Given the description of an element on the screen output the (x, y) to click on. 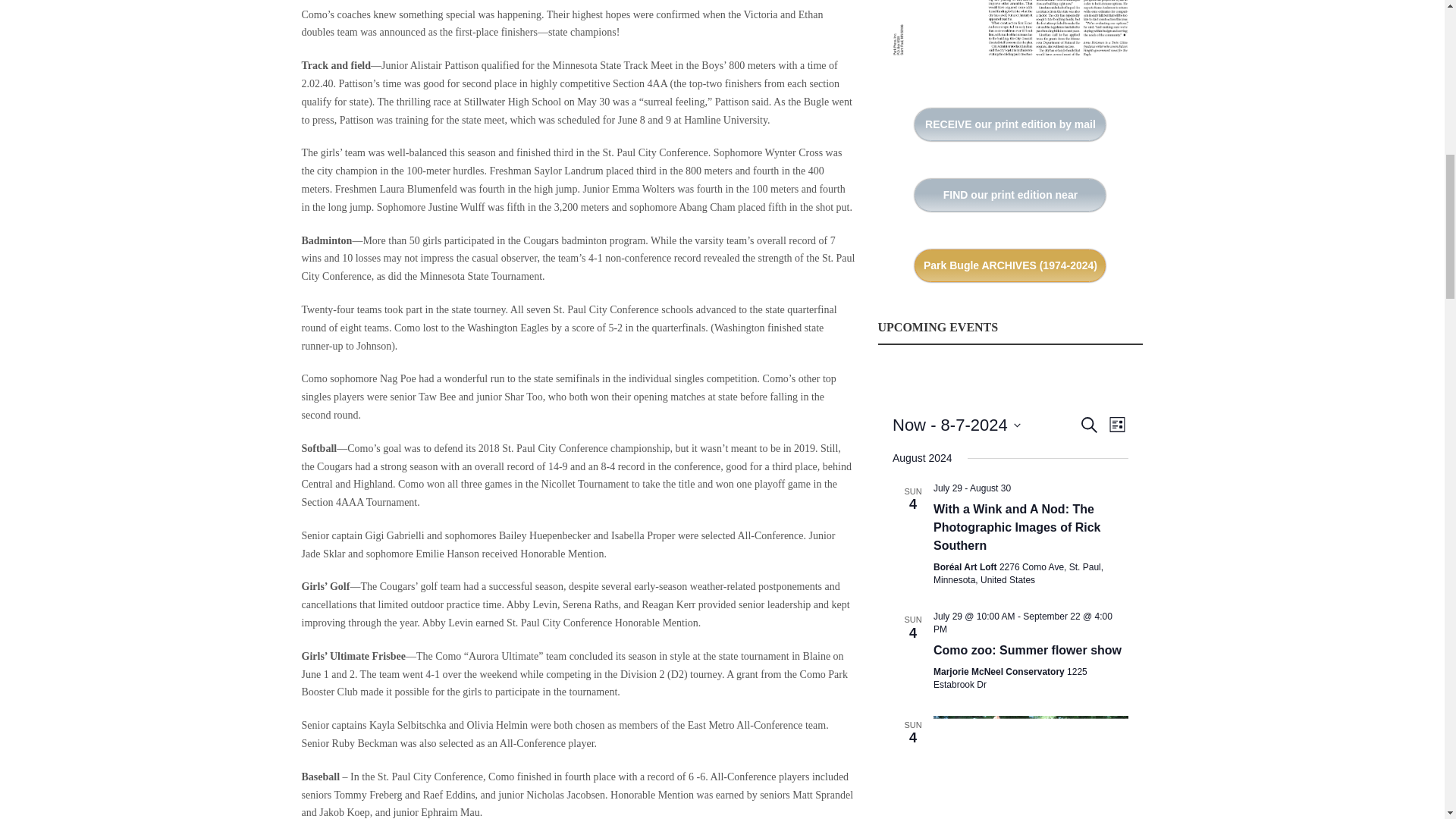
Latest Print Edition (1009, 35)
Dinosaur Expedition (1030, 767)
Como zoo: Summer flower show (1027, 650)
Click to toggle datepicker (956, 424)
